Given the description of an element on the screen output the (x, y) to click on. 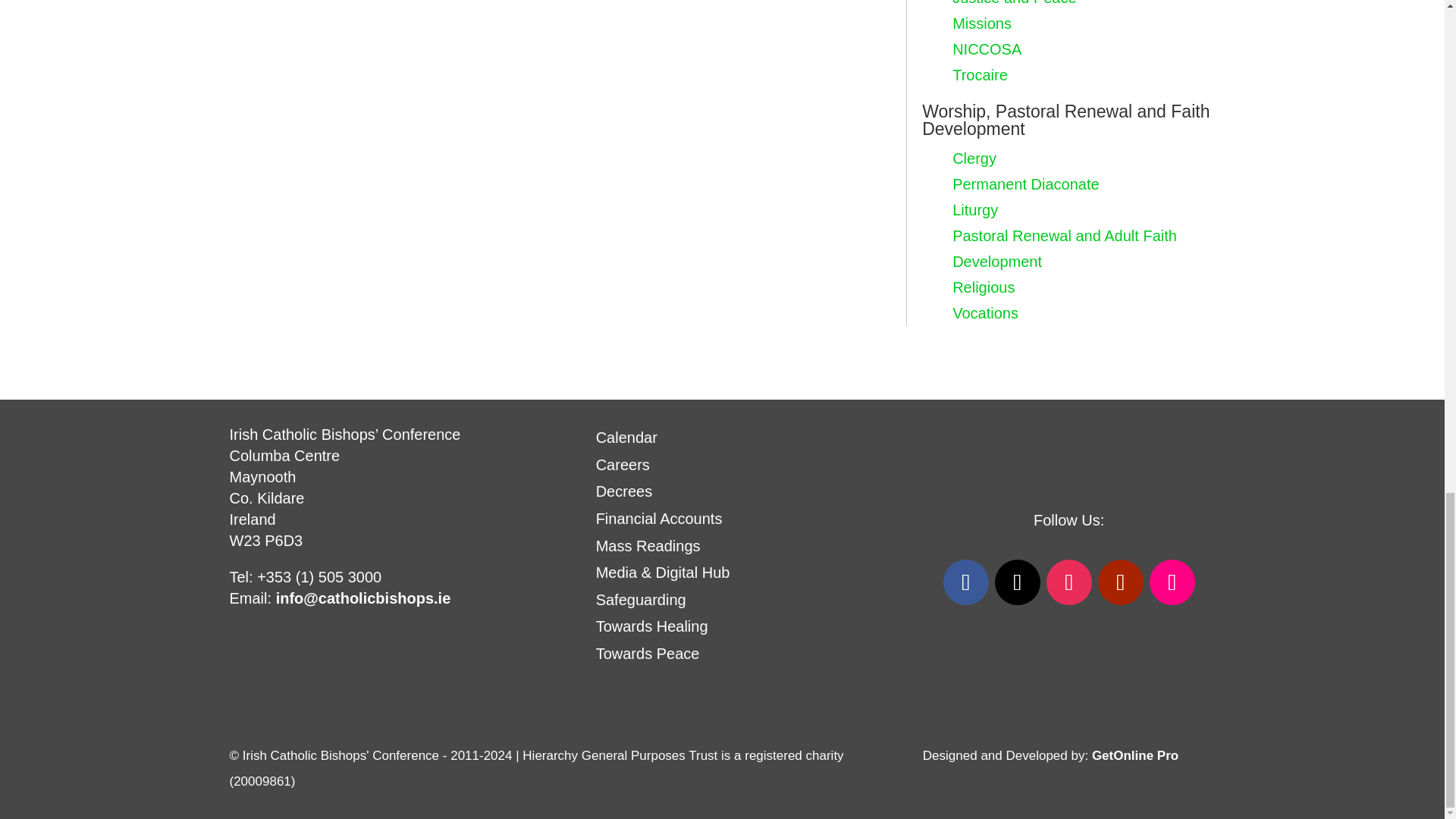
Follow on Facebook (965, 582)
Follow on Instagram (1069, 582)
Follow on Flickr (1172, 582)
Follow on Youtube (1119, 582)
Follow on X (1017, 582)
